Given the description of an element on the screen output the (x, y) to click on. 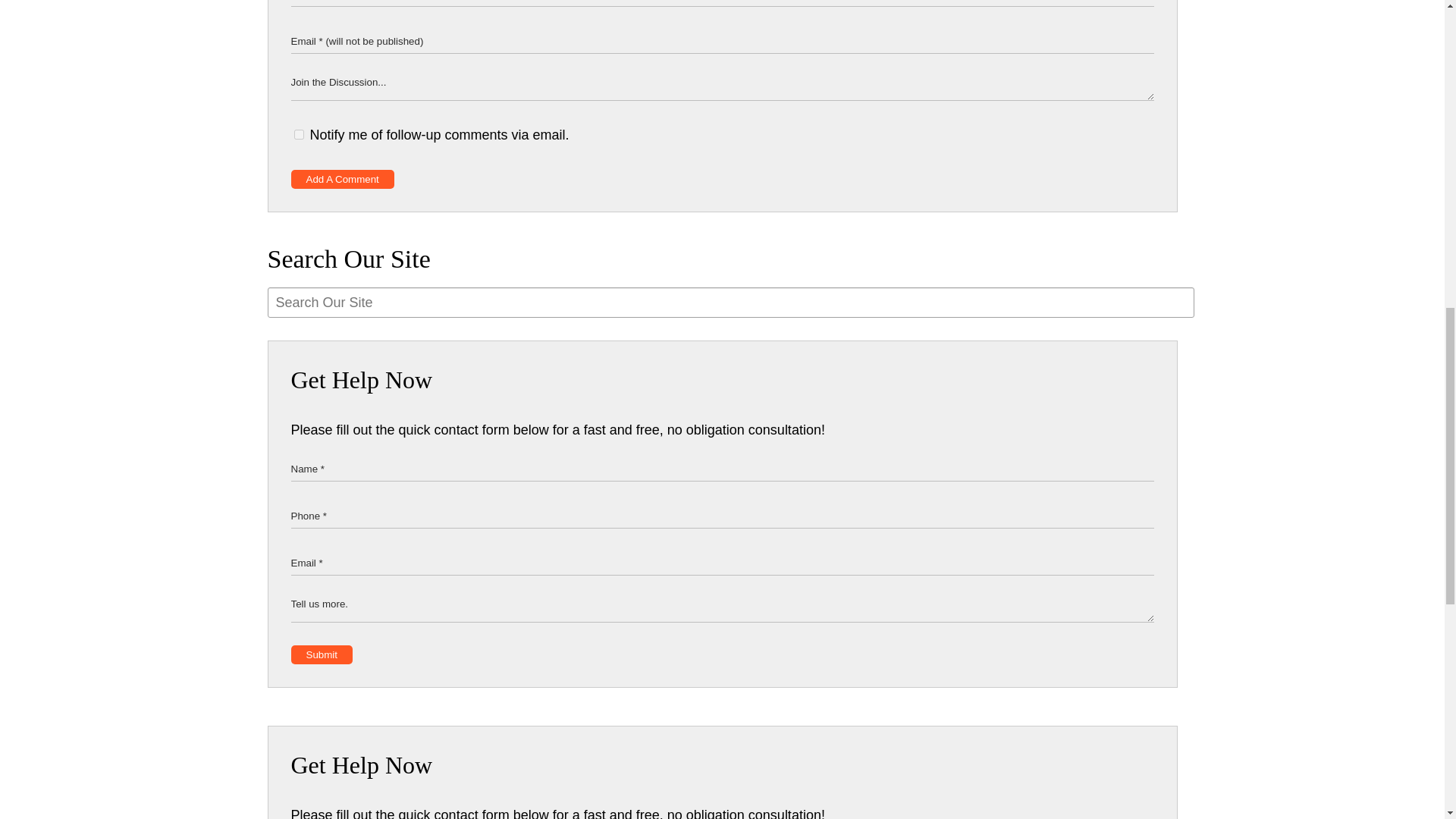
1 (299, 134)
Submit (321, 654)
Add A Comment (342, 179)
